Given the description of an element on the screen output the (x, y) to click on. 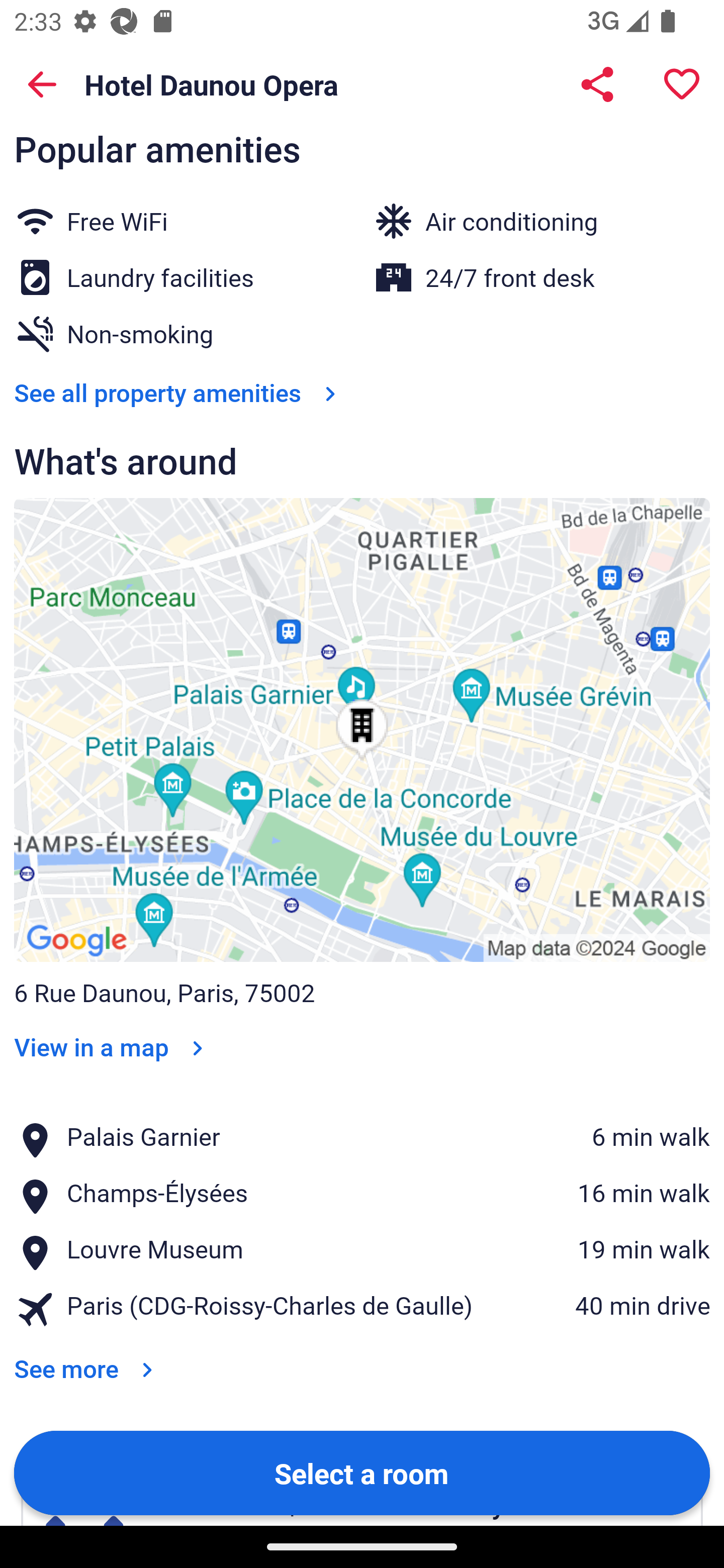
Back (42, 84)
Save property to a trip (681, 84)
Share Hotel Daunou Opera (597, 84)
See all property amenities (178, 391)
See more (86, 1355)
Select a room Button Select a room (361, 1472)
